Given the description of an element on the screen output the (x, y) to click on. 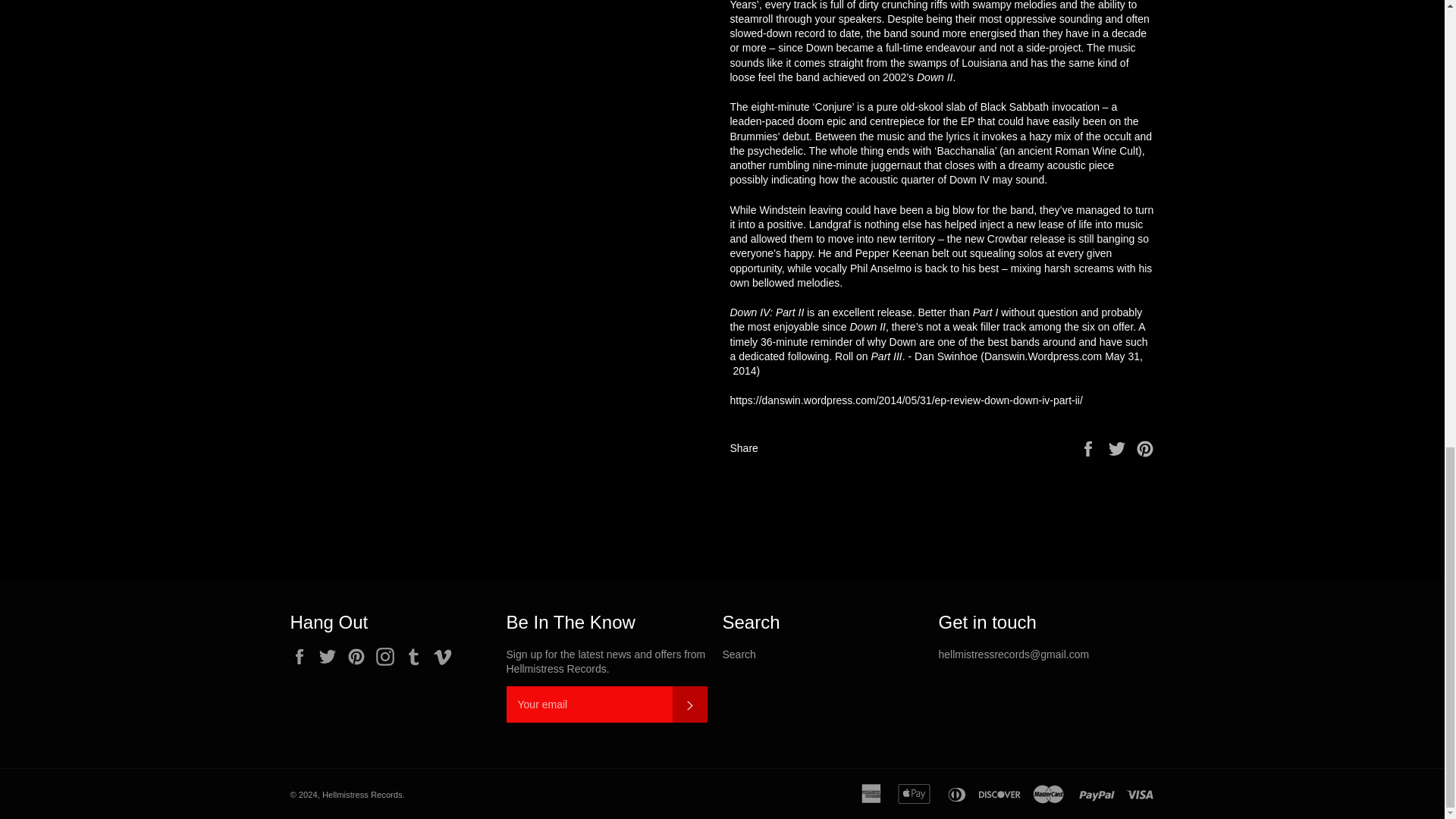
Hellmistress Records on Vimeo (446, 656)
Hellmistress Records on Pinterest (359, 656)
Hellmistress Records on Tumblr (417, 656)
Hellmistress Records on Twitter (330, 656)
Hellmistress Records on Instagram (388, 656)
Tweet on Twitter (1118, 447)
Hellmistress Records on Facebook (302, 656)
Share on Facebook (1089, 447)
Pin on Pinterest (1144, 447)
